Given the description of an element on the screen output the (x, y) to click on. 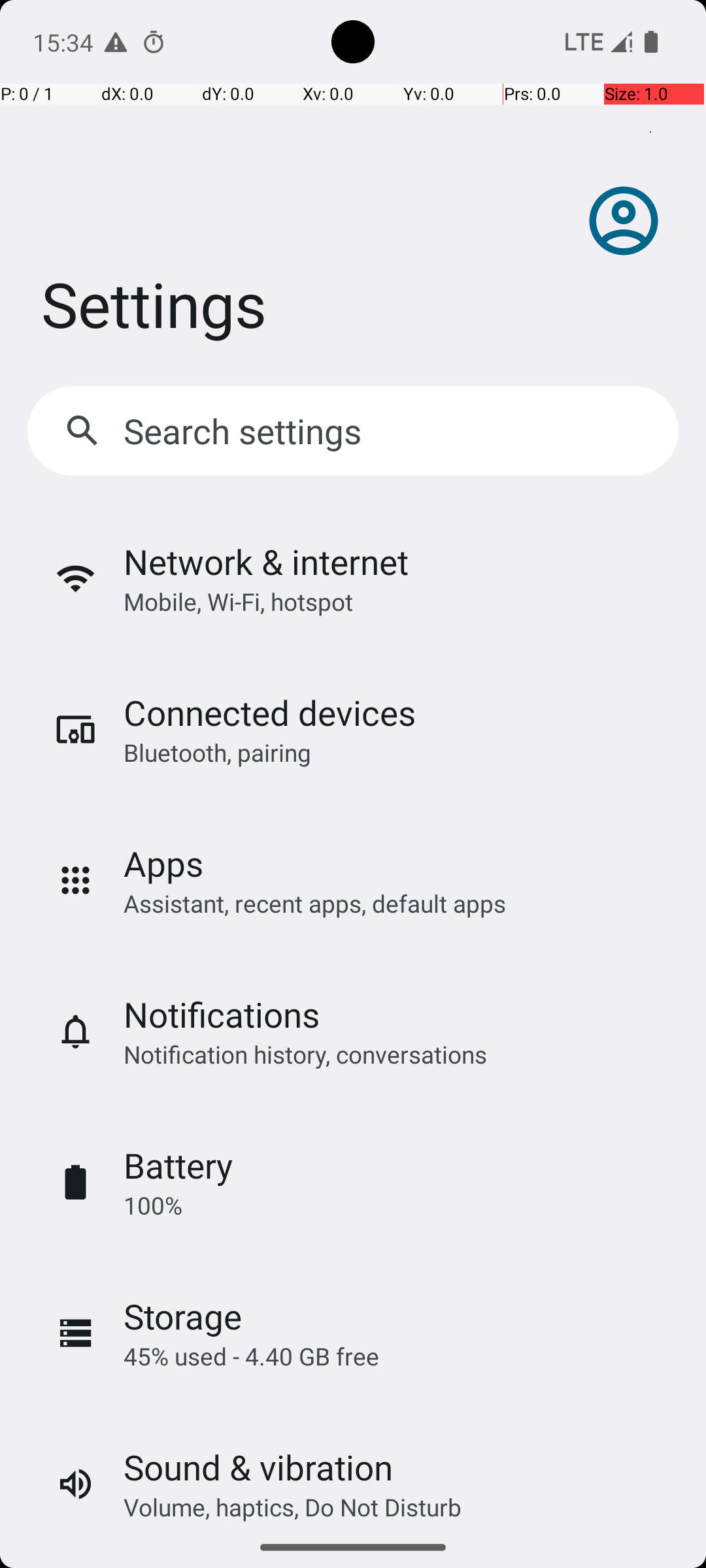
45% used - 4.40 GB free Element type: android.widget.TextView (251, 1355)
